Given the description of an element on the screen output the (x, y) to click on. 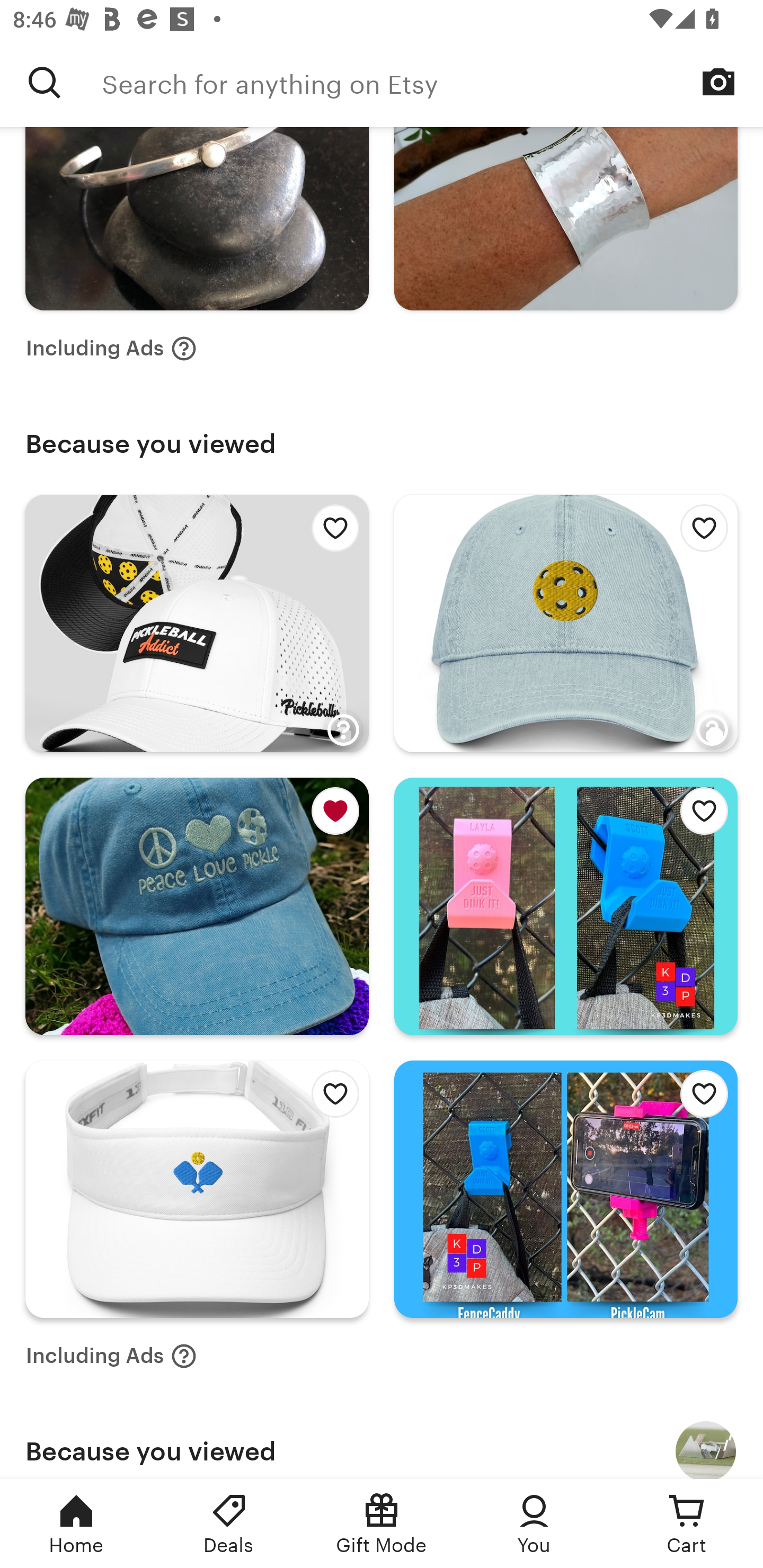
Search for anything on Etsy (44, 82)
Search by image (718, 81)
Search for anything on Etsy (432, 82)
Including Ads (111, 348)
Add Pickleball Addict Performance Hat to favorites (330, 532)
Including Ads (111, 1355)
Deals (228, 1523)
Gift Mode (381, 1523)
You (533, 1523)
Cart (686, 1523)
